Given the description of an element on the screen output the (x, y) to click on. 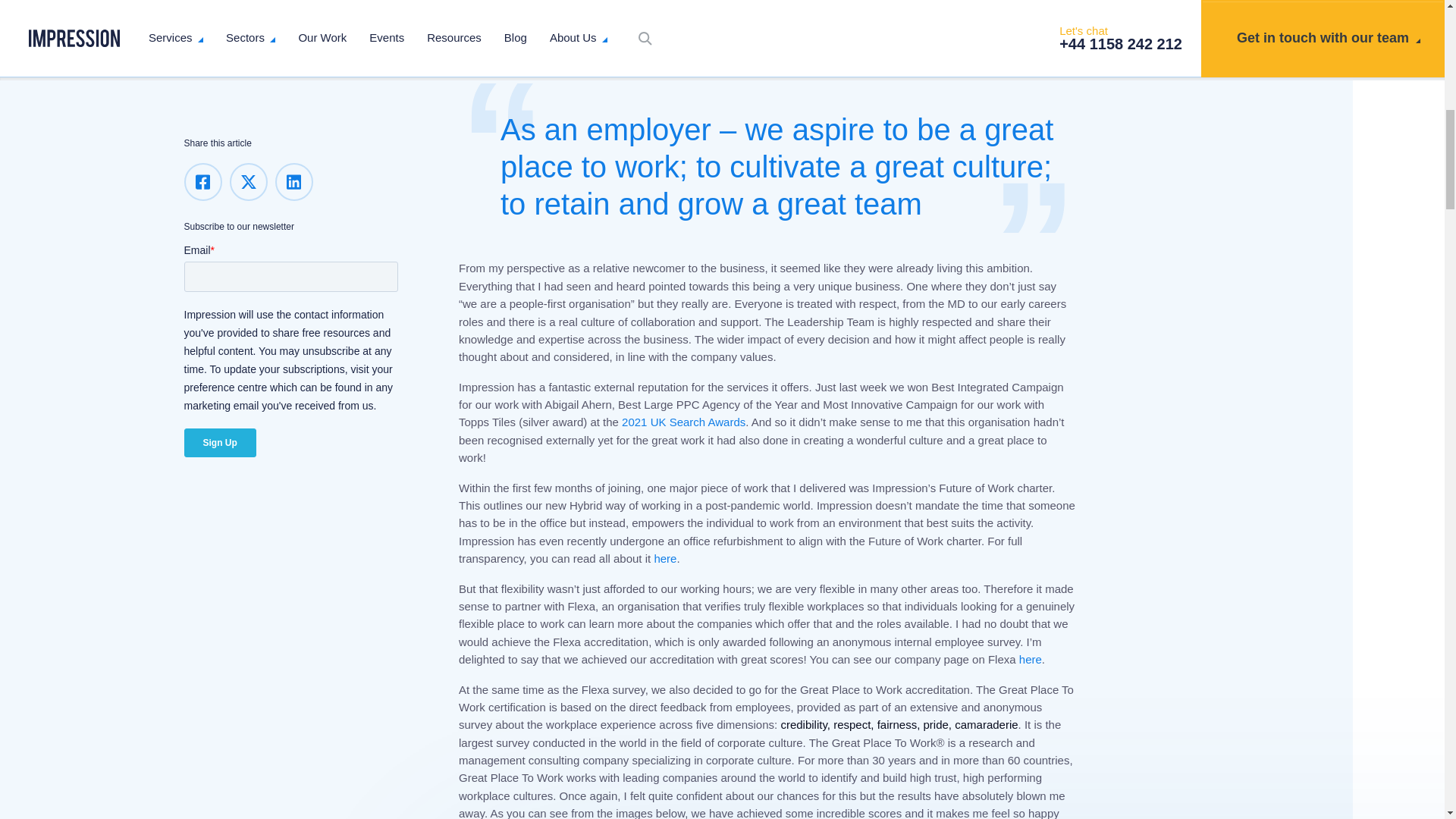
Sign Up (219, 400)
